Given the description of an element on the screen output the (x, y) to click on. 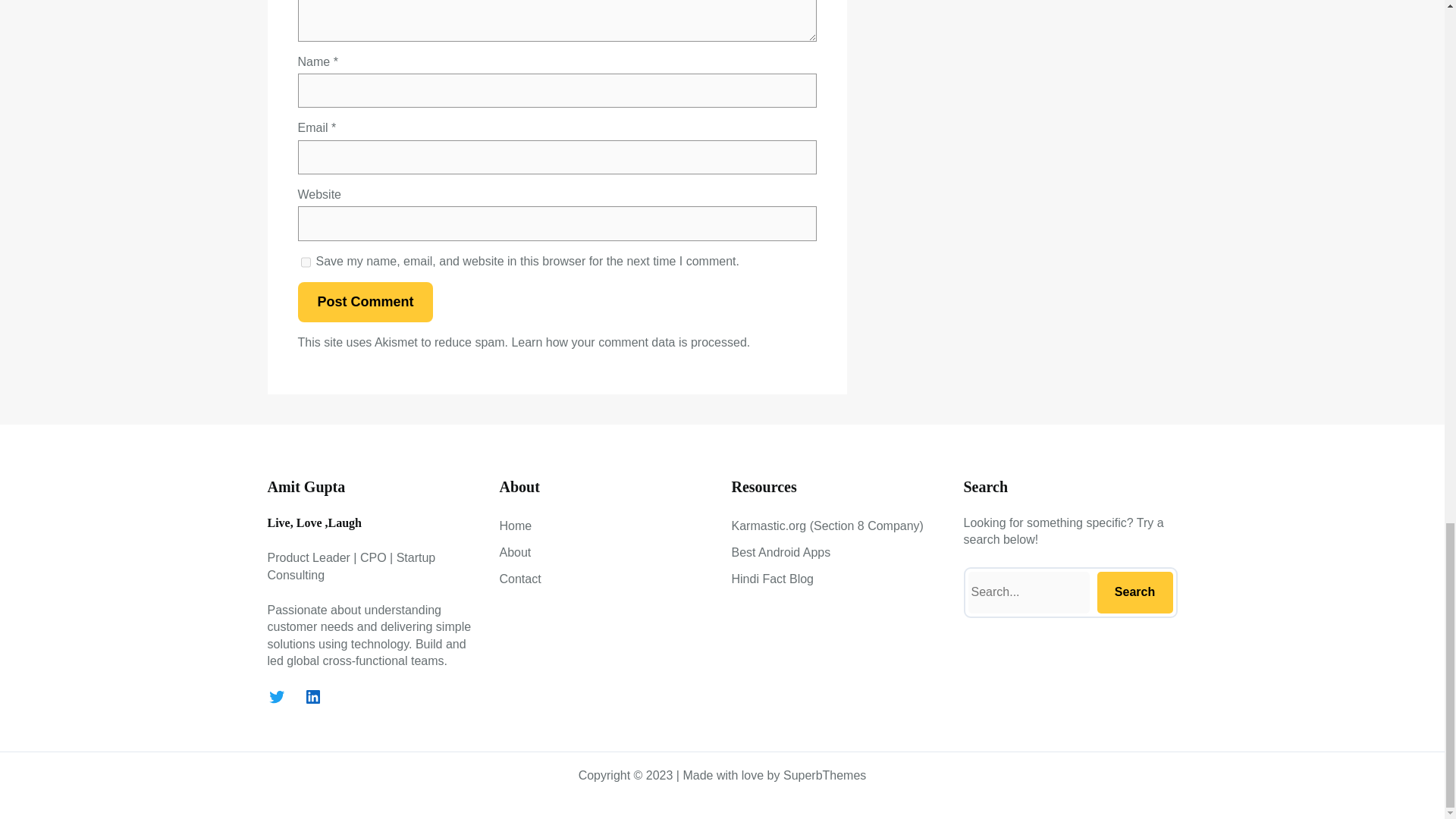
Post Comment (364, 301)
Learn how your comment data is processed (628, 341)
Post Comment (364, 301)
yes (304, 262)
Twitter (275, 696)
LinkedIn (311, 696)
